Given the description of an element on the screen output the (x, y) to click on. 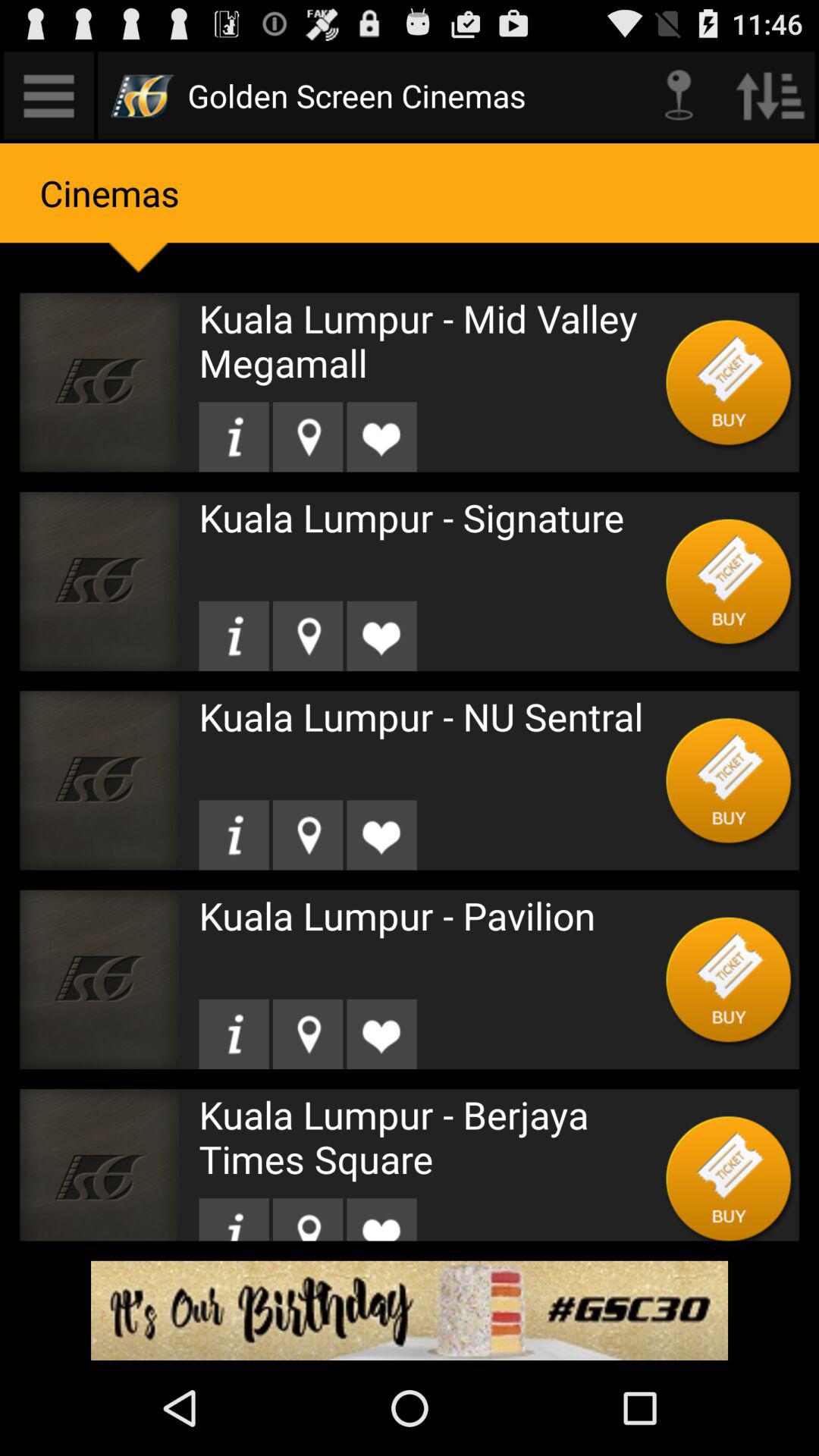
more information (234, 835)
